Given the description of an element on the screen output the (x, y) to click on. 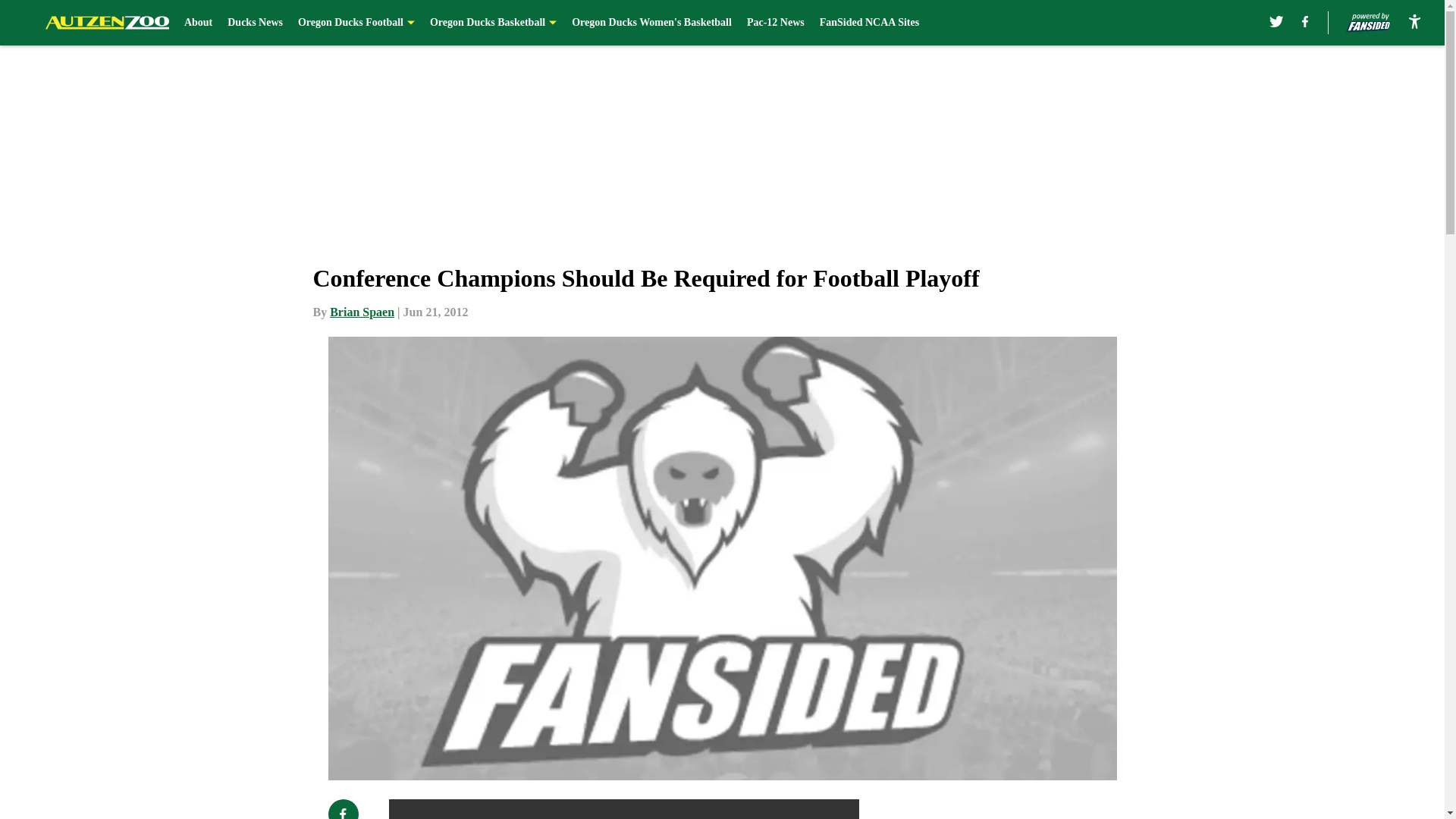
About (198, 22)
FanSided NCAA Sites (868, 22)
Brian Spaen (362, 311)
3rd party ad content (1047, 809)
Pac-12 News (775, 22)
Ducks News (254, 22)
Oregon Ducks Women's Basketball (652, 22)
